Given the description of an element on the screen output the (x, y) to click on. 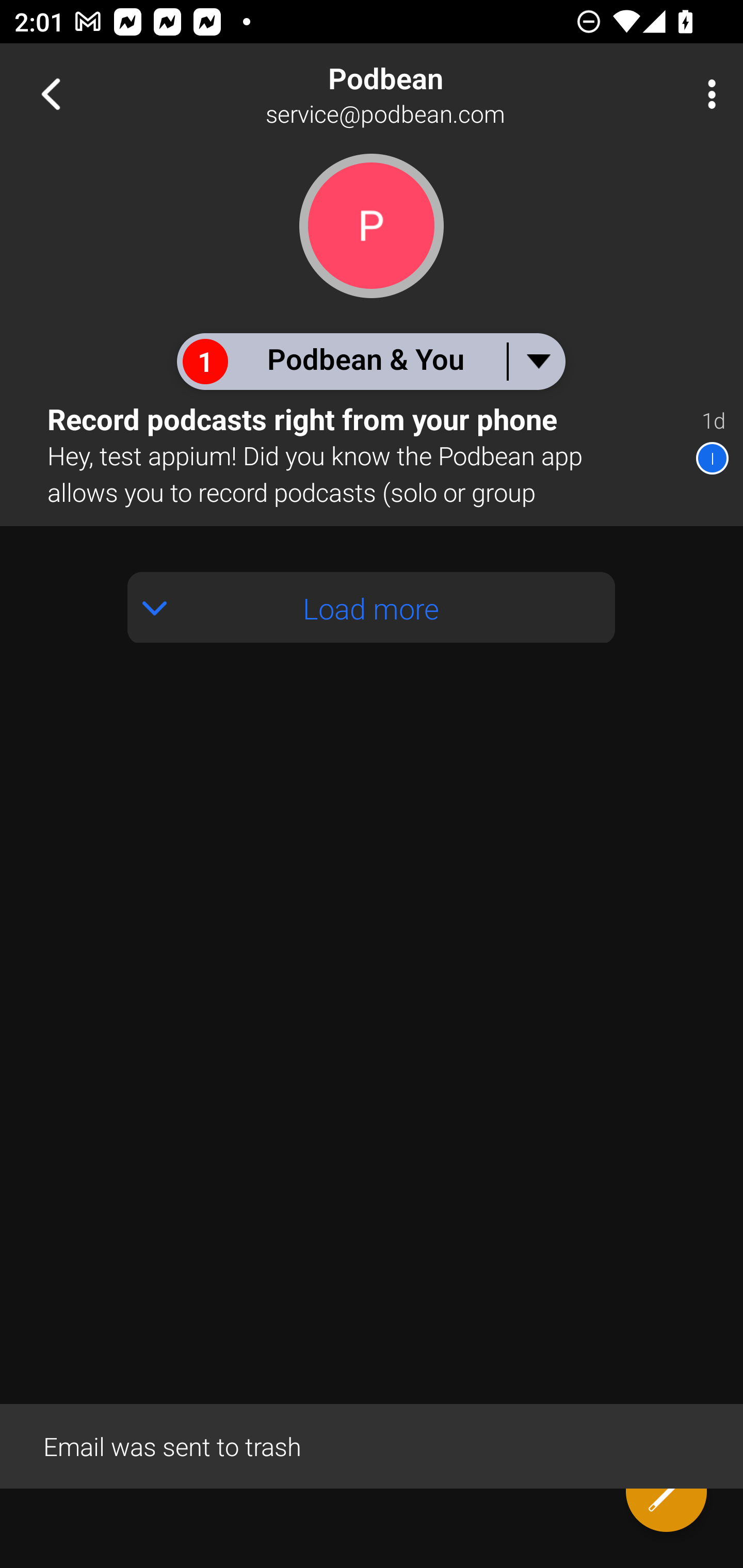
Navigate up (50, 93)
Podbean service@podbean.com (436, 93)
More Options (706, 93)
1 Podbean & You (370, 361)
Load more (371, 607)
Email was sent to trash (371, 1445)
